Given the description of an element on the screen output the (x, y) to click on. 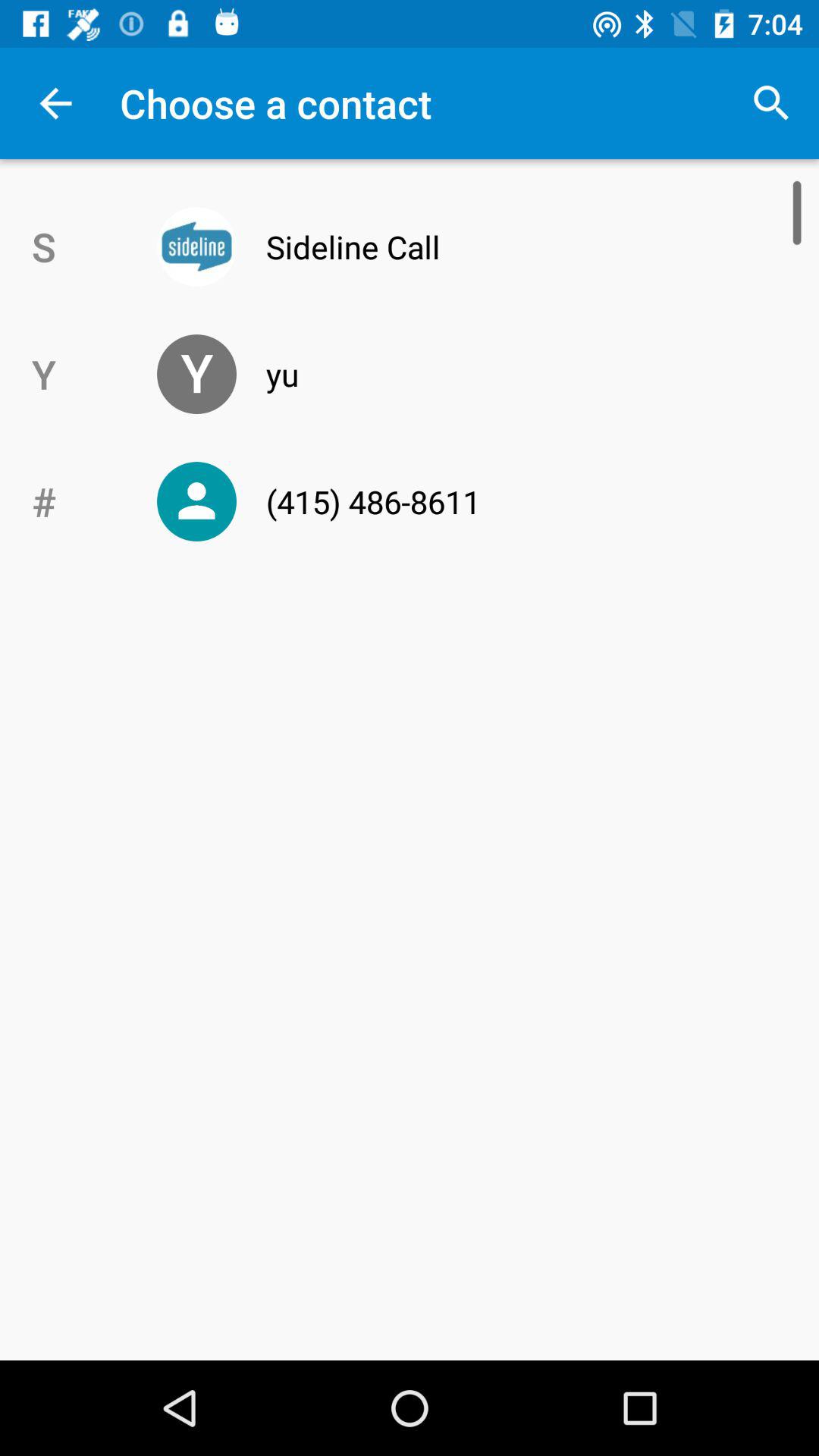
tap item at the top right corner (771, 103)
